Given the description of an element on the screen output the (x, y) to click on. 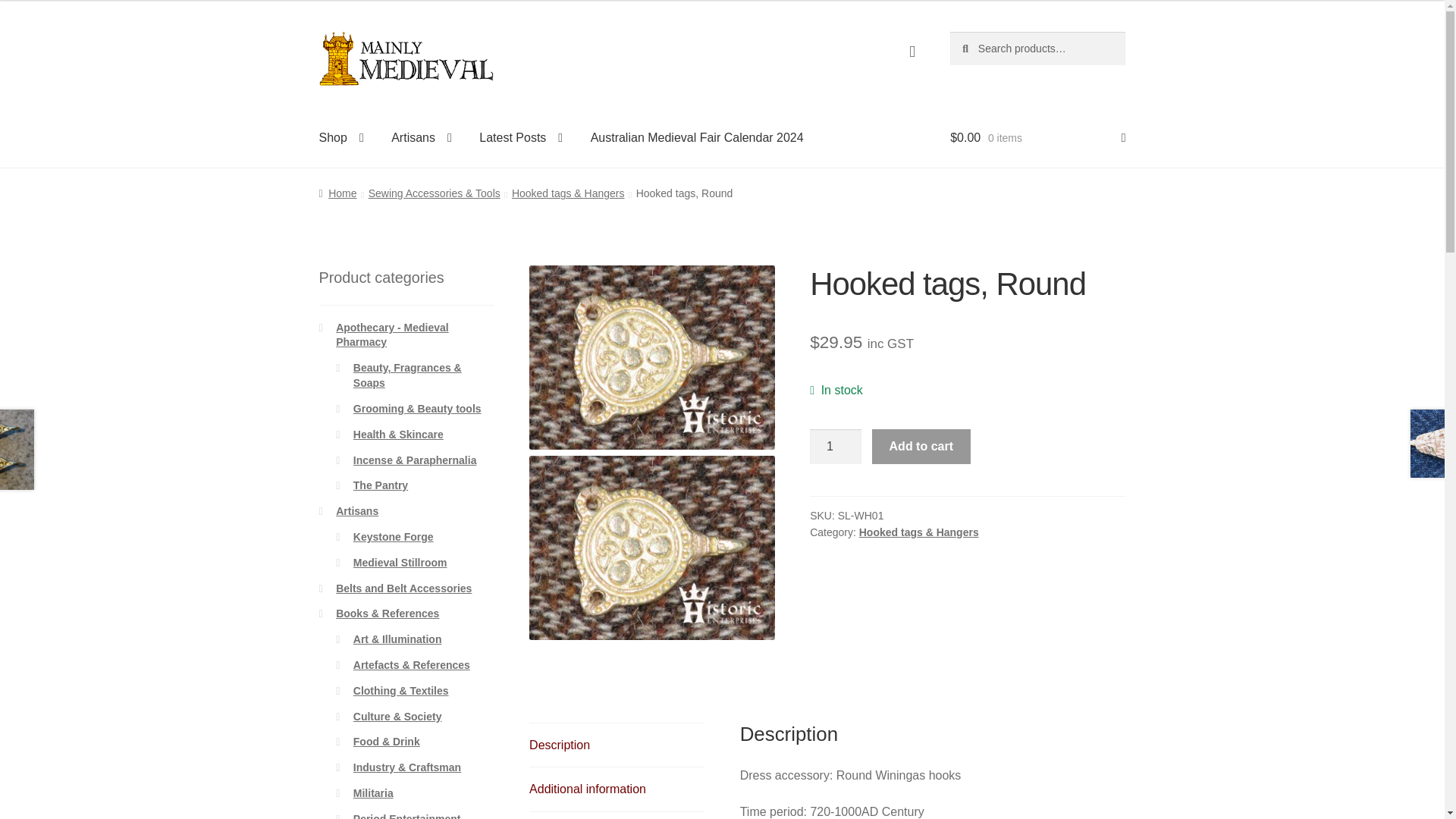
Hooked tags, Round (651, 357)
Hooked tags, Round (651, 547)
1 (835, 446)
Latest Posts (521, 137)
Artisans (421, 137)
Home (337, 193)
Shop (341, 137)
Australian Medieval Fair Calendar 2024 (696, 137)
